Given the description of an element on the screen output the (x, y) to click on. 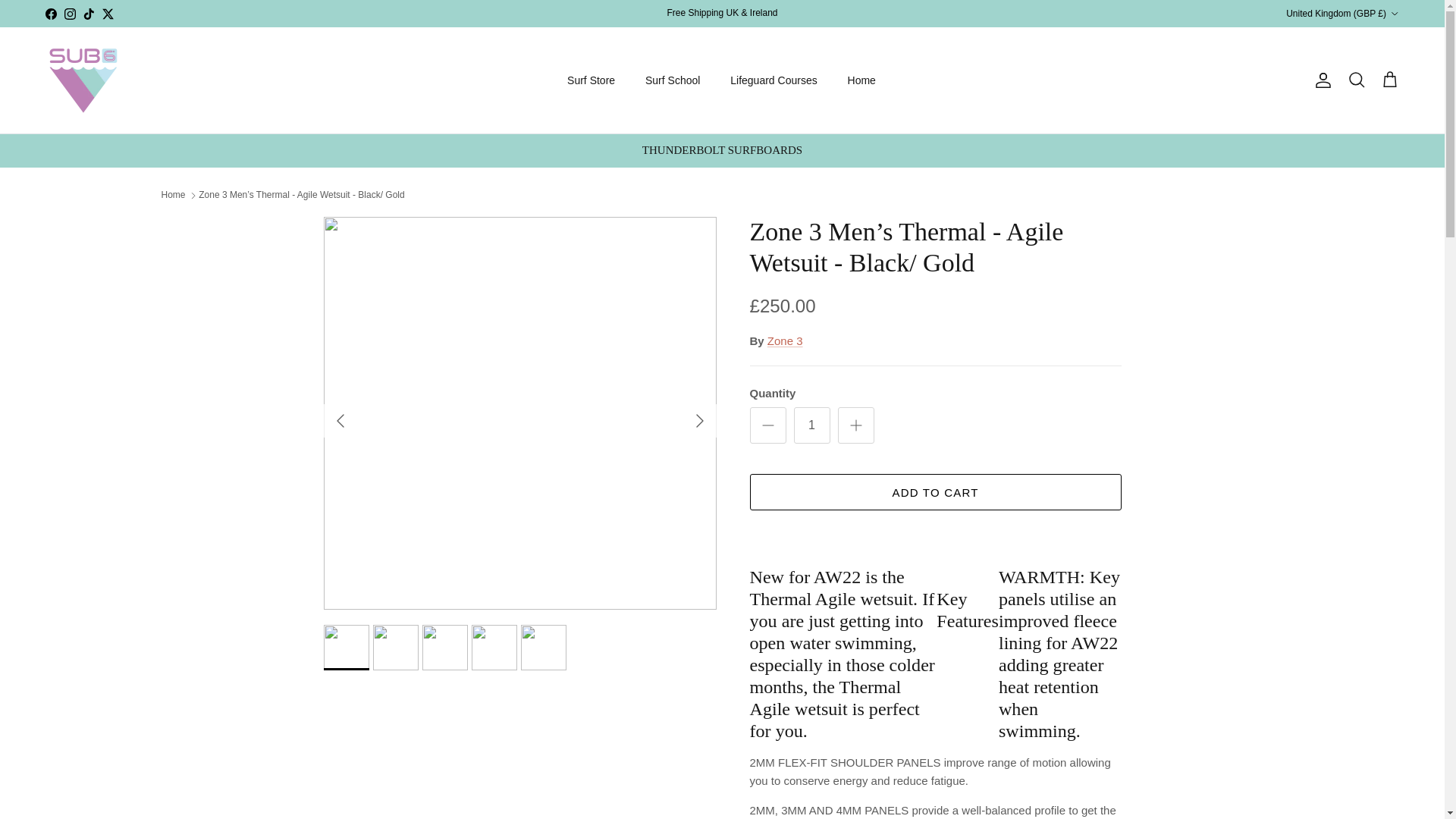
Twitter (107, 12)
1 (811, 425)
Cart (1389, 80)
Home (861, 80)
Facebook (50, 12)
Surf Store (590, 80)
Search (1356, 80)
Instagram (69, 12)
Surf School (672, 80)
Lifeguard Courses (772, 80)
SUB6 Surf Store - Surf School - Lifeguard Courses (82, 79)
TikTok (88, 12)
SUB6 Surf Store - Surf School - Lifeguard Courses on Twitter (107, 12)
